Given the description of an element on the screen output the (x, y) to click on. 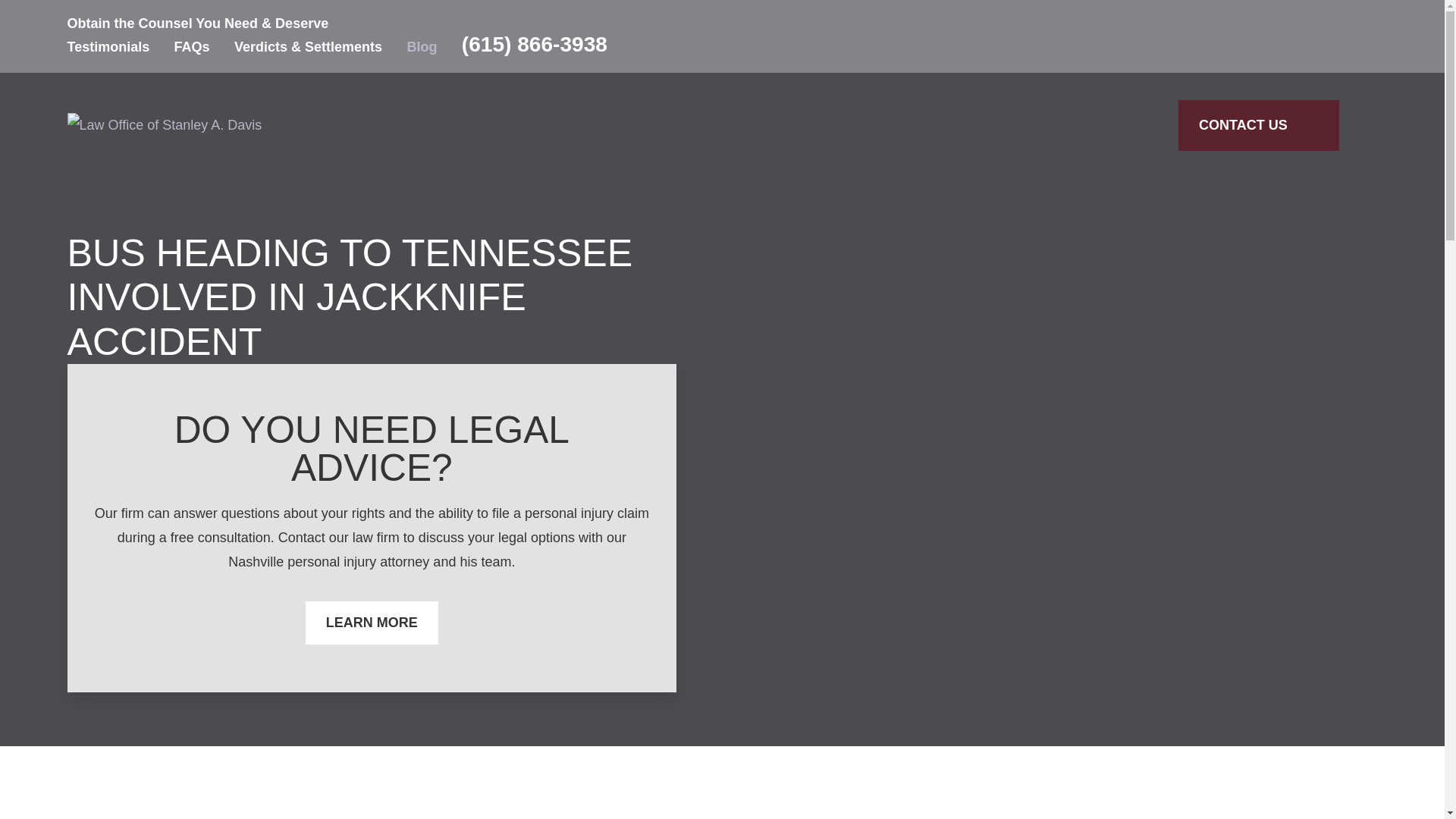
Blog (421, 46)
Home (164, 125)
Testimonials (107, 46)
FAQs (191, 46)
